Given the description of an element on the screen output the (x, y) to click on. 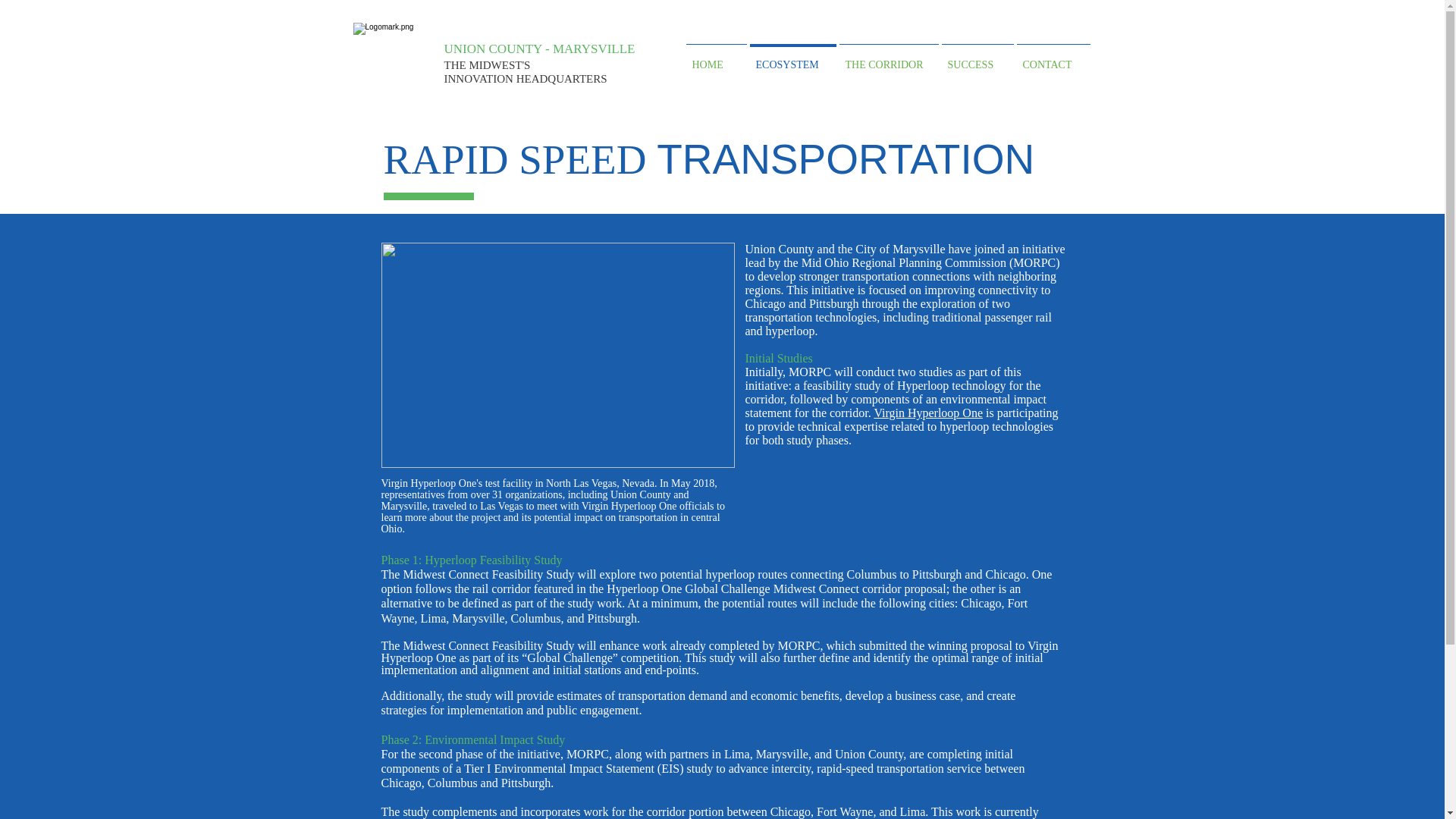
Virgin Hyperloop One (927, 412)
ECOSYSTEM (792, 58)
SUCCESS (977, 58)
HOME (716, 58)
THE CORRIDOR (888, 58)
CONTACT (1052, 58)
